Given the description of an element on the screen output the (x, y) to click on. 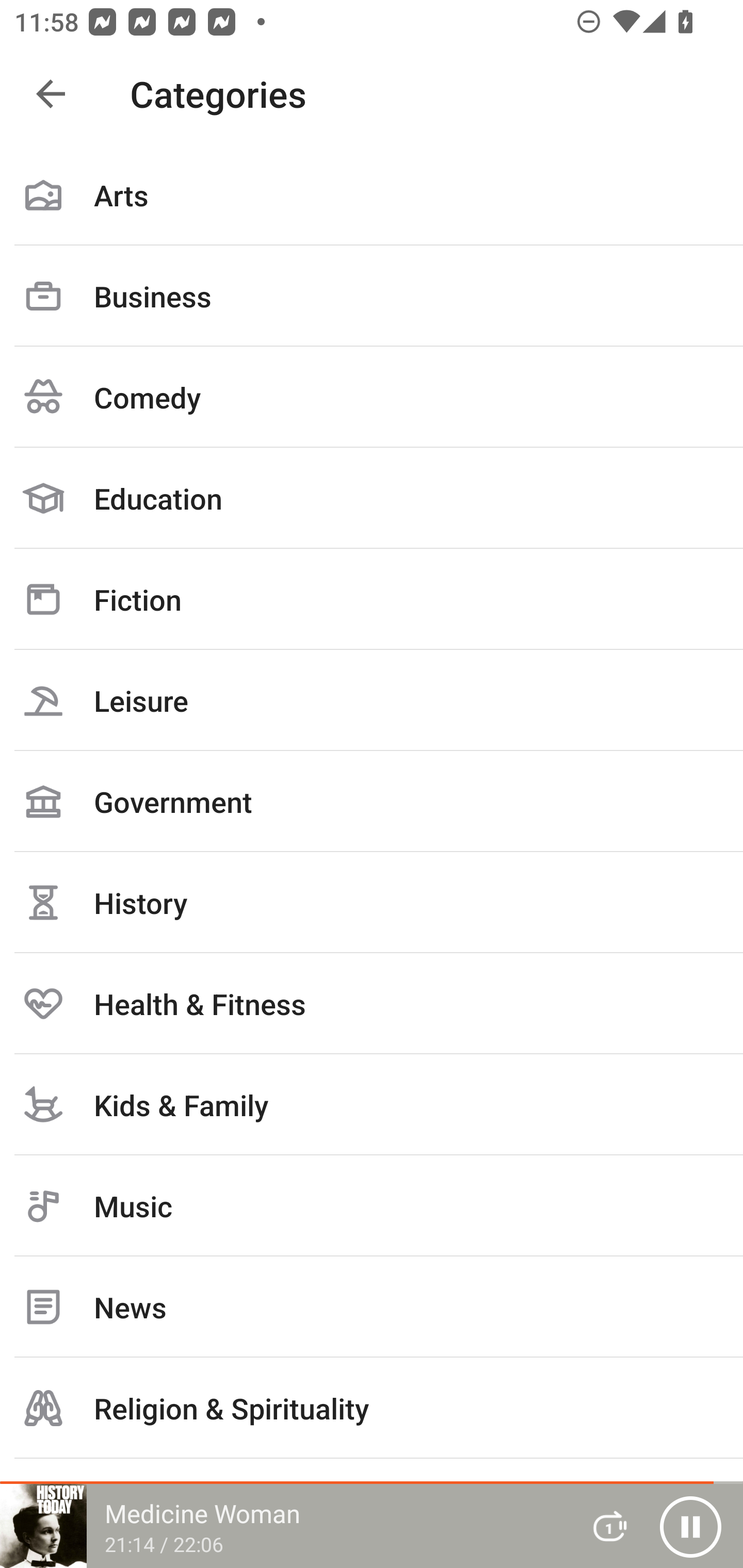
Navigate up (50, 93)
Arts (371, 195)
Business (371, 296)
Comedy (371, 397)
Education (371, 498)
Fiction (371, 598)
Leisure (371, 700)
Government (371, 801)
History (371, 902)
Health & Fitness (371, 1003)
Kids & Family (371, 1104)
Music (371, 1205)
News (371, 1306)
Religion & Spirituality (371, 1407)
Medicine Woman 21:14 / 22:06 (283, 1525)
Pause (690, 1526)
